Given the description of an element on the screen output the (x, y) to click on. 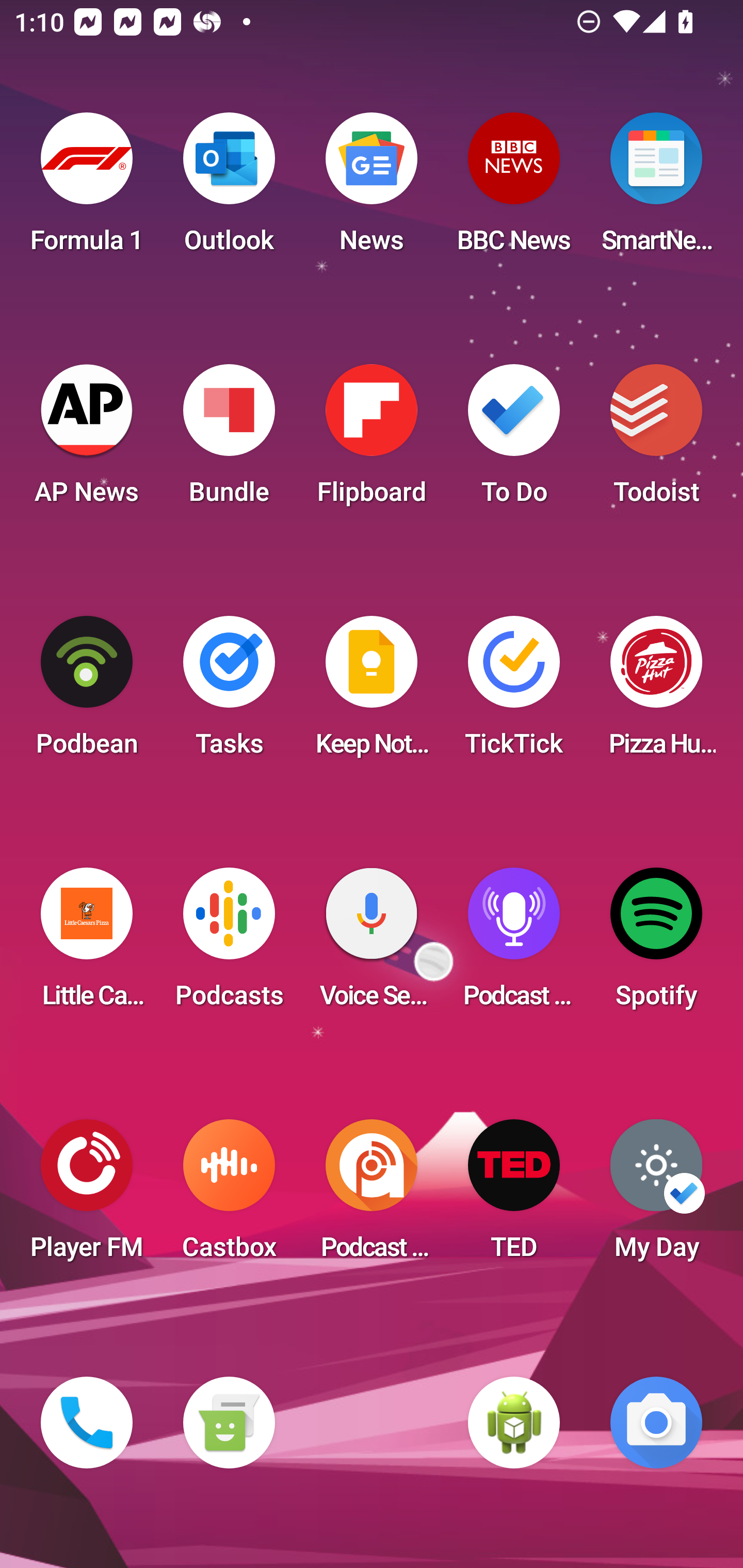
Formula 1 (86, 188)
Outlook (228, 188)
News (371, 188)
BBC News (513, 188)
SmartNews (656, 188)
AP News (86, 440)
Bundle (228, 440)
Flipboard (371, 440)
To Do (513, 440)
Todoist (656, 440)
Podbean (86, 692)
Tasks (228, 692)
Keep Notes (371, 692)
TickTick (513, 692)
Pizza Hut HK & Macau (656, 692)
Little Caesars Pizza (86, 943)
Podcasts (228, 943)
Voice Search (371, 943)
Podcast Player (513, 943)
Spotify (656, 943)
Player FM (86, 1195)
Castbox (228, 1195)
Podcast Addict (371, 1195)
TED (513, 1195)
My Day (656, 1195)
Phone (86, 1422)
Messaging (228, 1422)
WebView Browser Tester (513, 1422)
Camera (656, 1422)
